Given the description of an element on the screen output the (x, y) to click on. 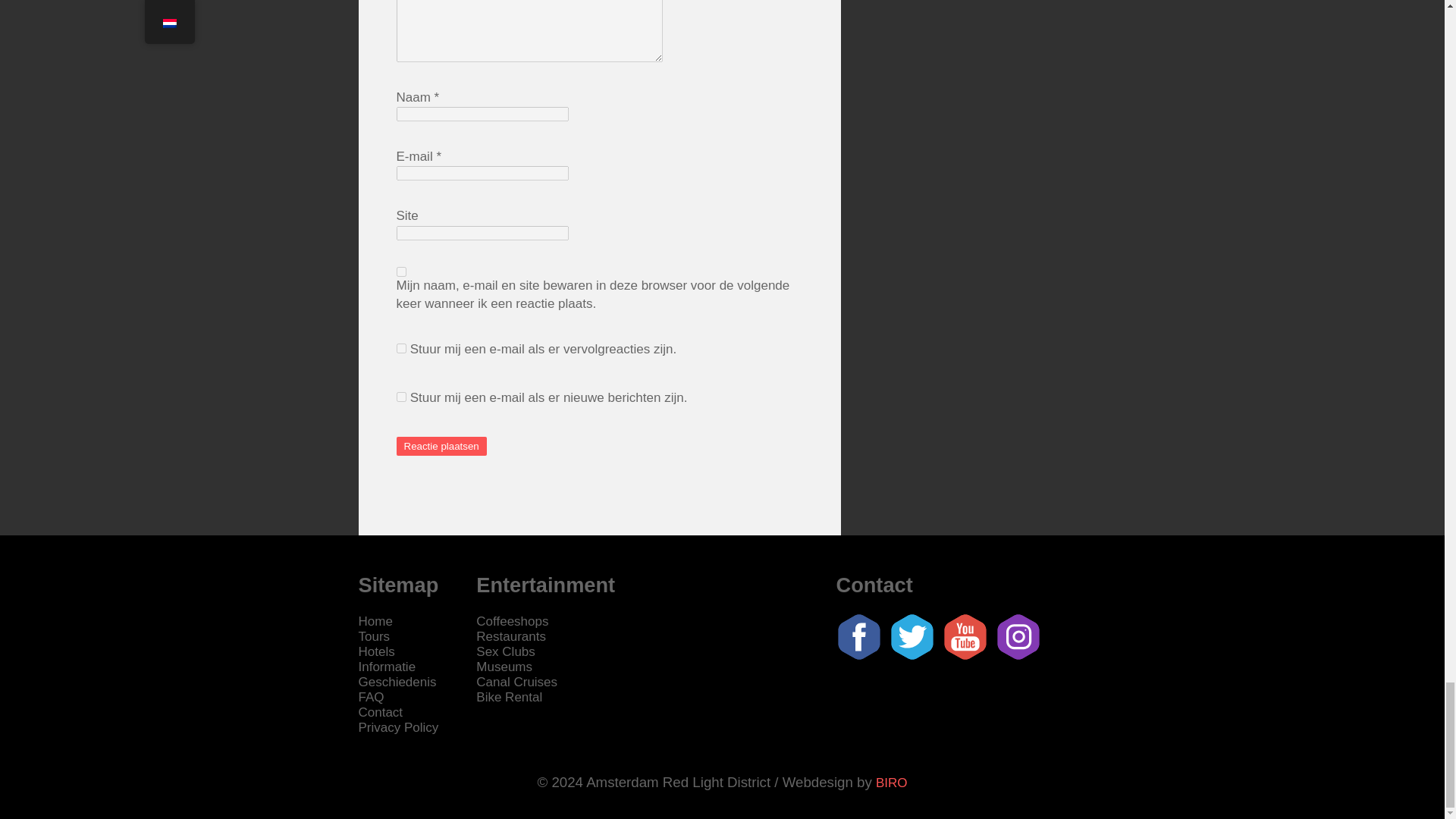
Reactie plaatsen (441, 445)
yes (401, 271)
subscribe (401, 347)
subscribe (401, 397)
